Given the description of an element on the screen output the (x, y) to click on. 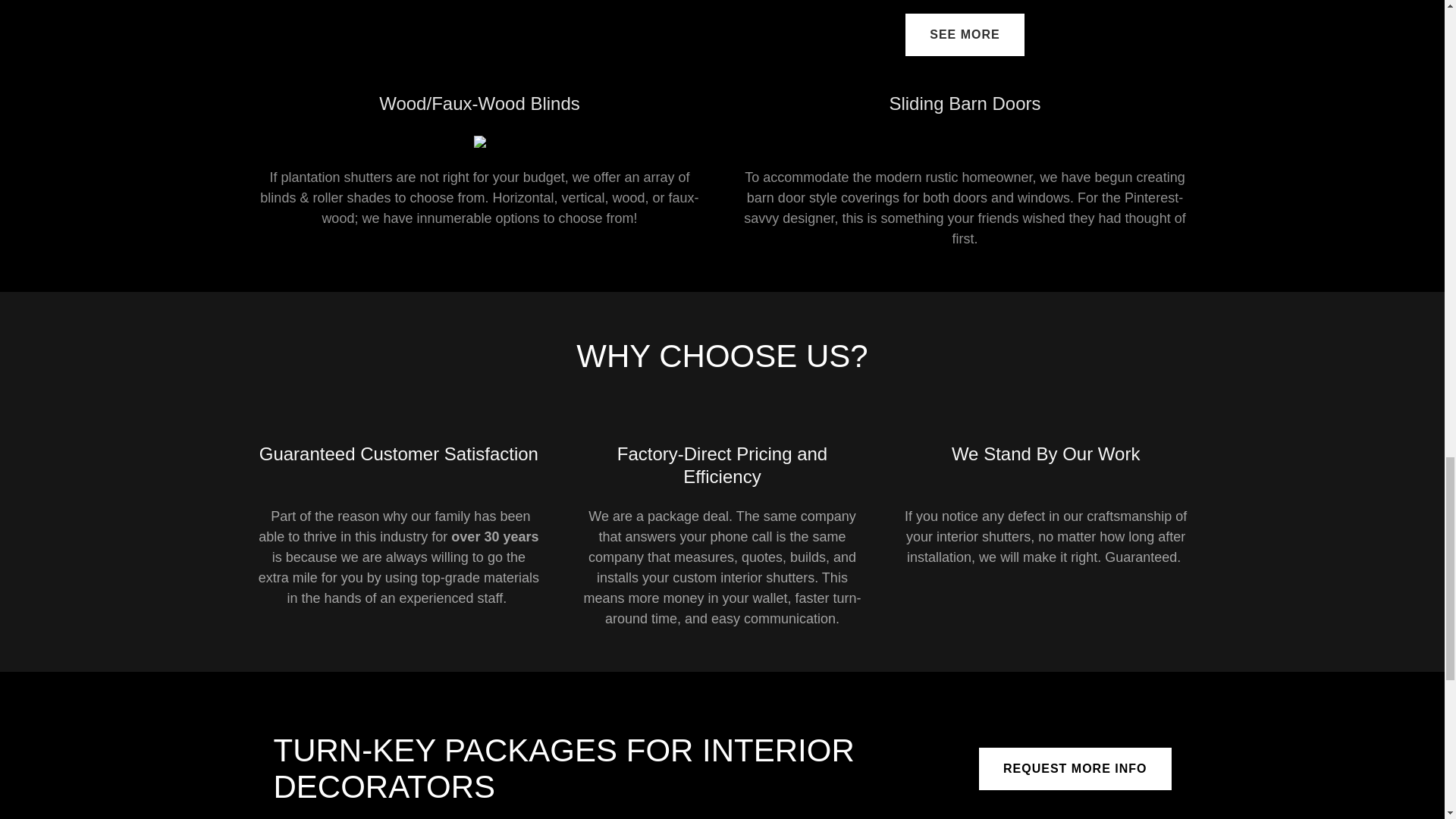
REQUEST MORE INFO (1074, 768)
SEE MORE (964, 34)
